Given the description of an element on the screen output the (x, y) to click on. 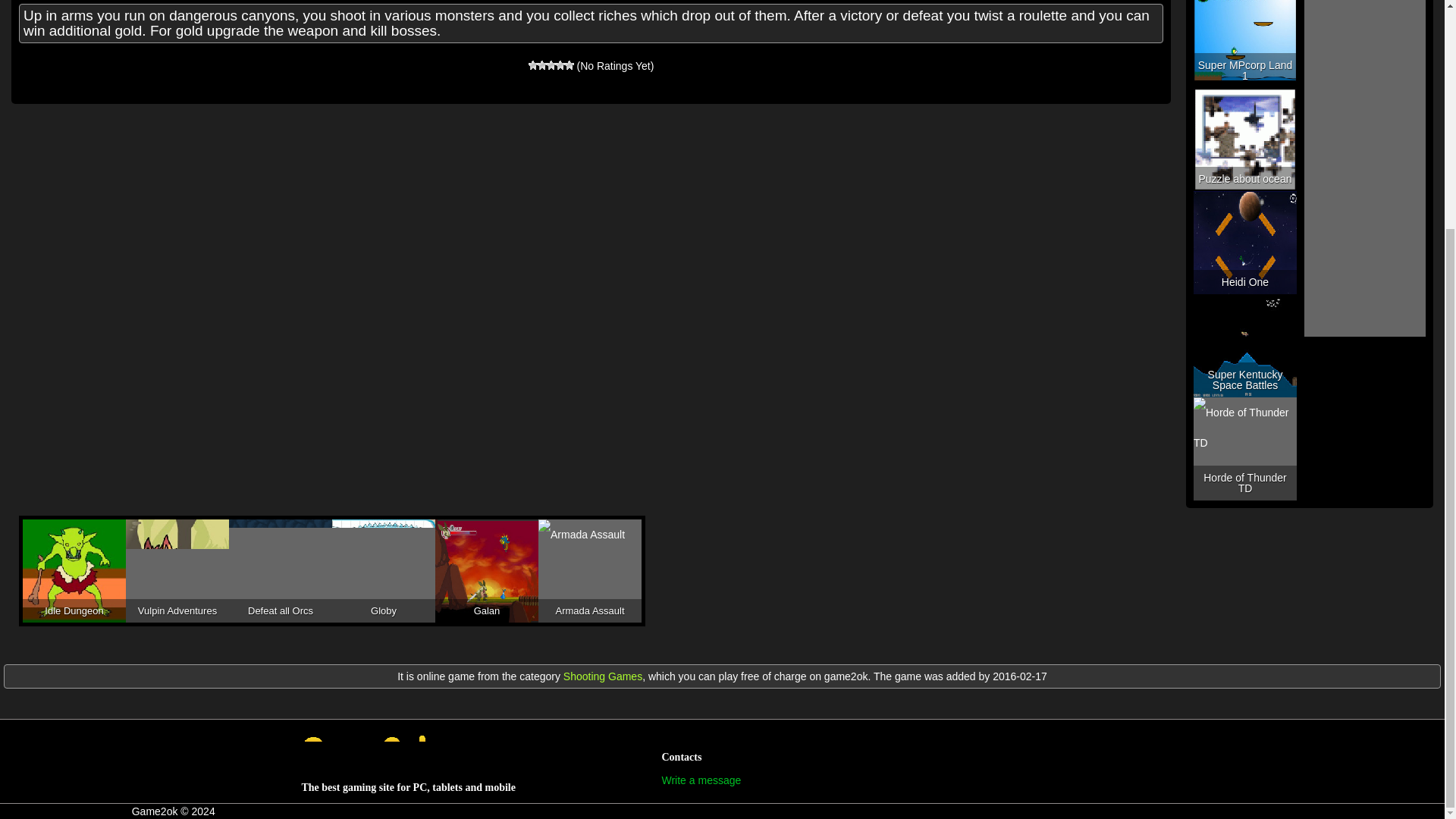
Super Kentucky Space Battles (1245, 345)
Idle Dungeon (74, 570)
Puzzle about ocean (1245, 138)
Super MPcorp Land 1 (1245, 43)
Heidi One (1245, 242)
Vulpin Adventures (176, 570)
Horde of Thunder TD (1245, 448)
